Given the description of an element on the screen output the (x, y) to click on. 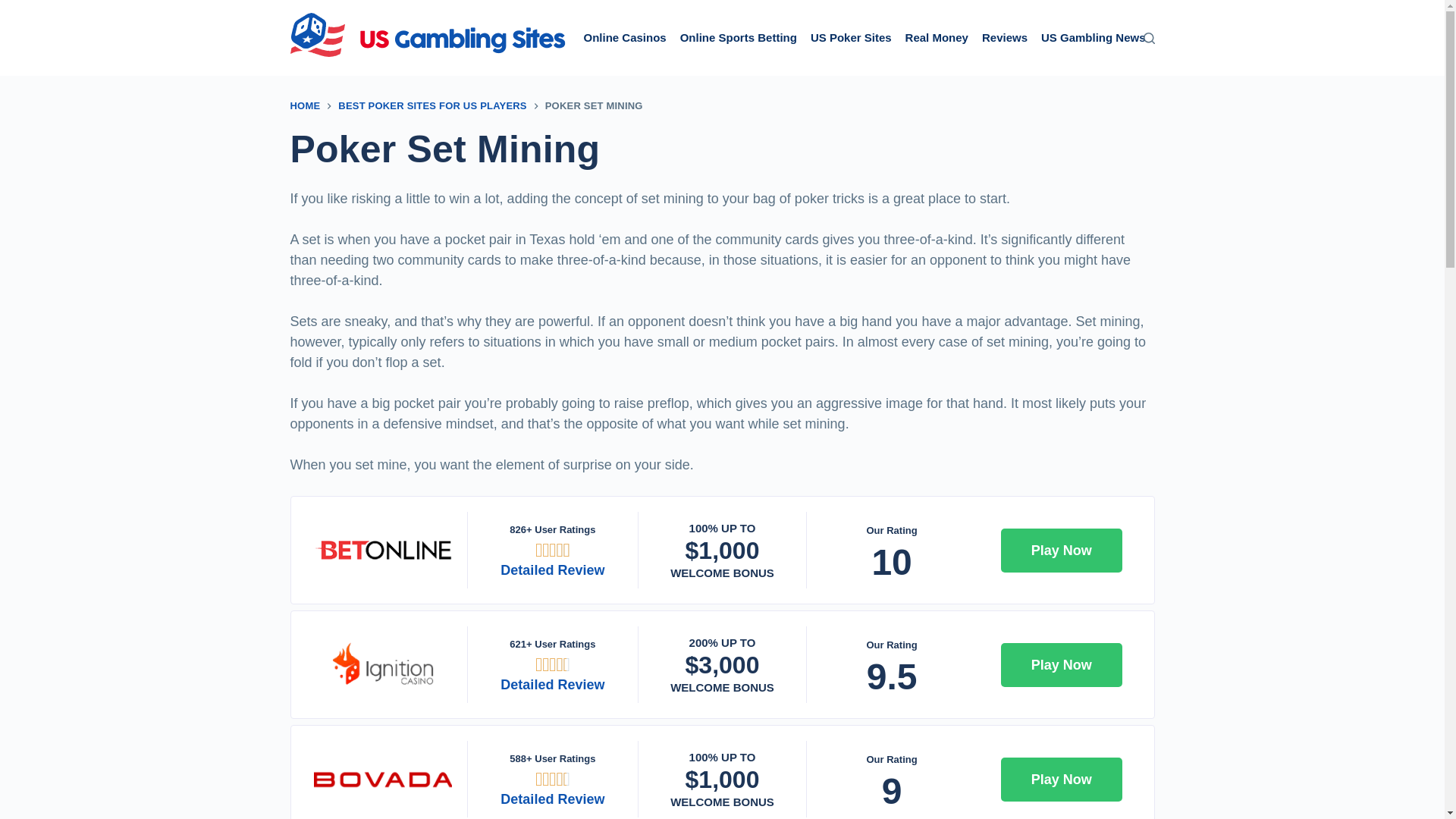
Poker Set Mining (721, 149)
Online Casinos (624, 38)
BEST POKER SITES FOR US PLAYERS (431, 105)
Reviews (1004, 38)
Play Now (1061, 550)
Real Money (936, 38)
Detailed Review (552, 684)
Detailed Review (552, 570)
Play Now (1061, 664)
US Poker Sites (850, 38)
HOME (304, 105)
Online Sports Betting (737, 38)
Play Now (1061, 779)
US Gambling News (1093, 38)
Detailed Review (552, 798)
